Given the description of an element on the screen output the (x, y) to click on. 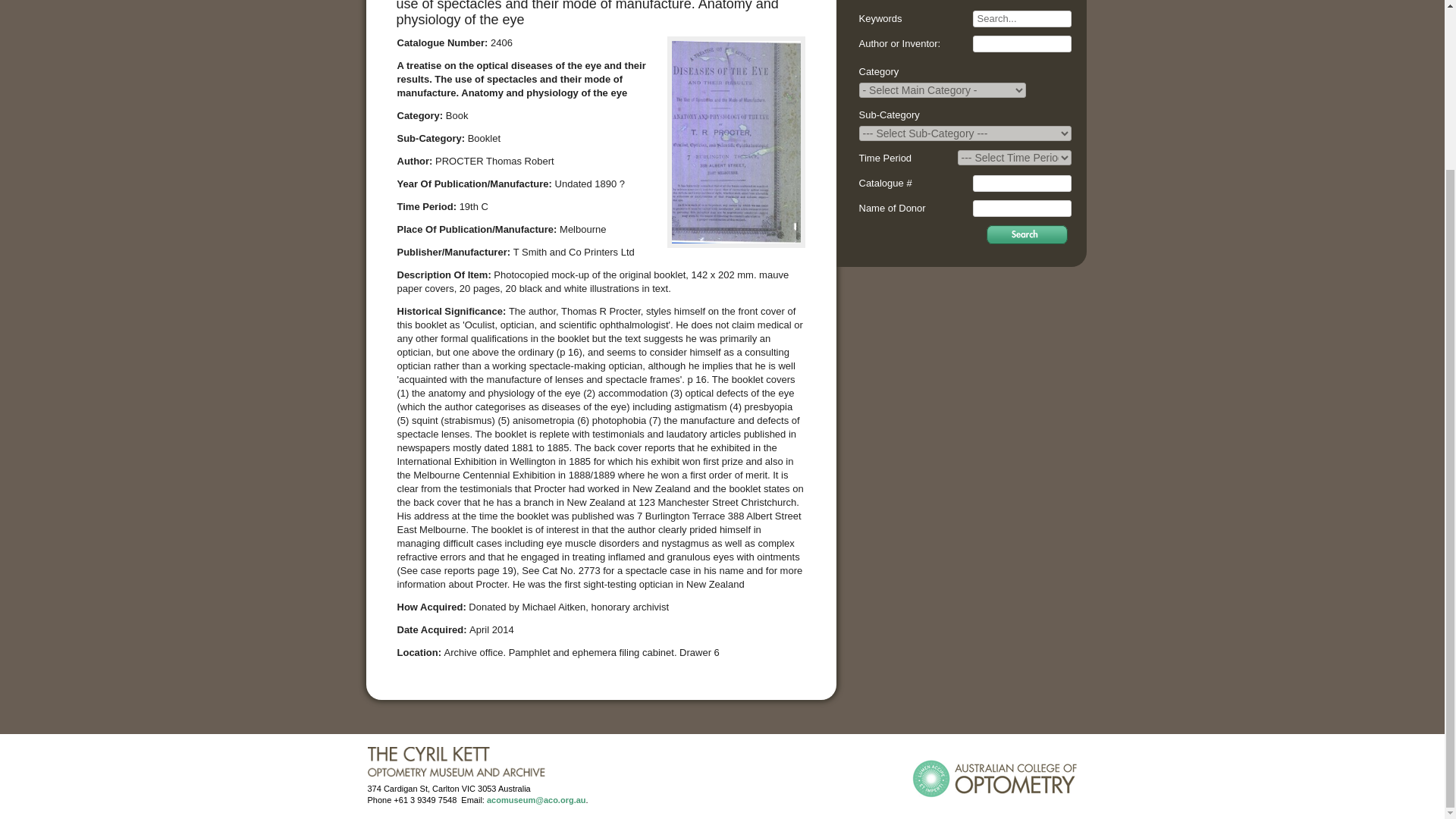
ACO Website (994, 778)
Search (1026, 234)
Search (1026, 234)
Search... (1021, 18)
